Given the description of an element on the screen output the (x, y) to click on. 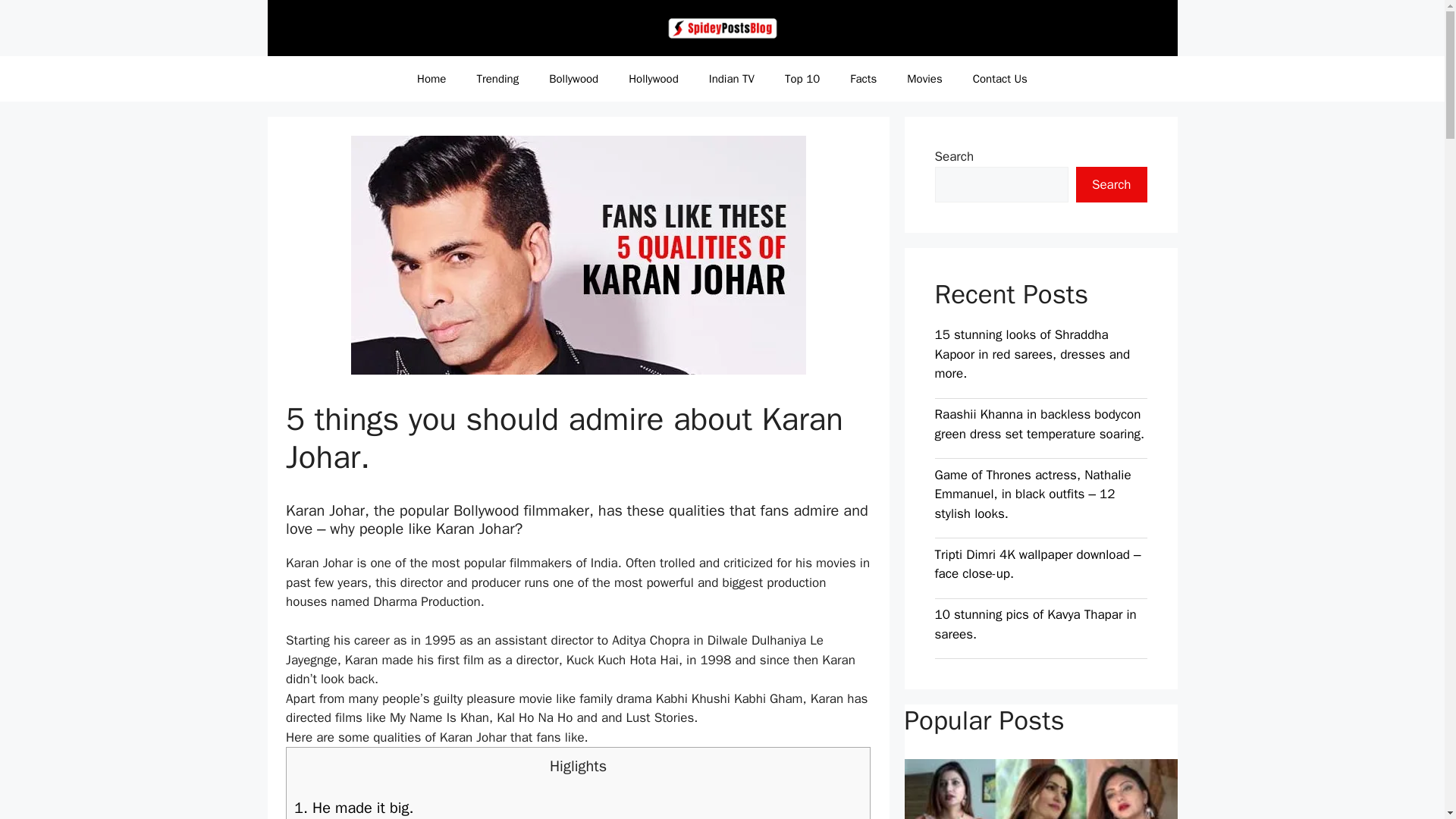
Hollywood (653, 78)
Top 10 (802, 78)
Facts (862, 78)
karan johar popular powerful bollywood directors (577, 254)
Contact Us (1000, 78)
1. He made it big. (577, 806)
Trending (497, 78)
Home (431, 78)
Bollywood (573, 78)
Movies (923, 78)
Indian TV (732, 78)
